Given the description of an element on the screen output the (x, y) to click on. 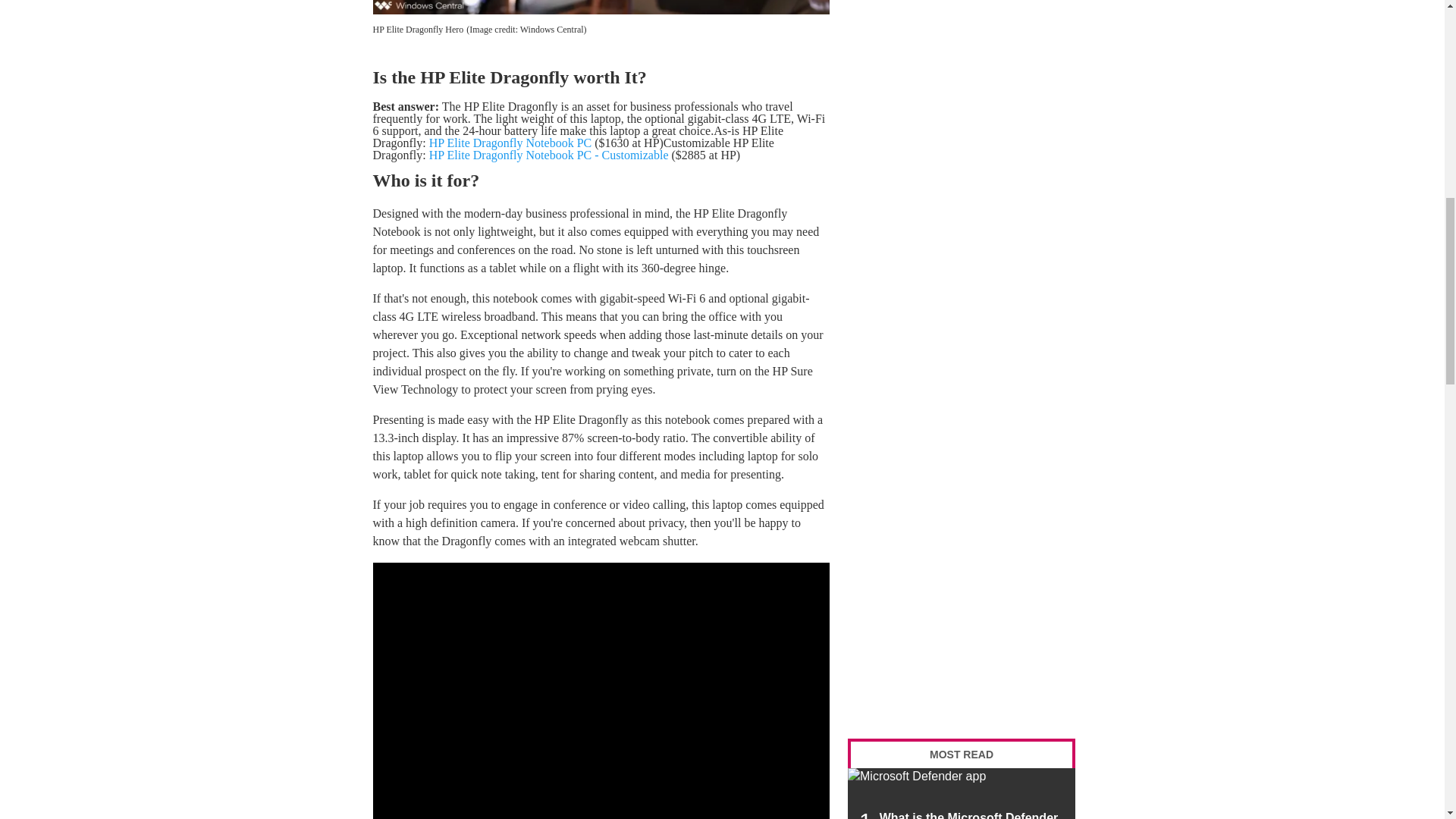
HP Elite Dragonfly Notebook PC - Customizable (548, 154)
HP Elite Dragonfly Notebook PC (510, 142)
